Given the description of an element on the screen output the (x, y) to click on. 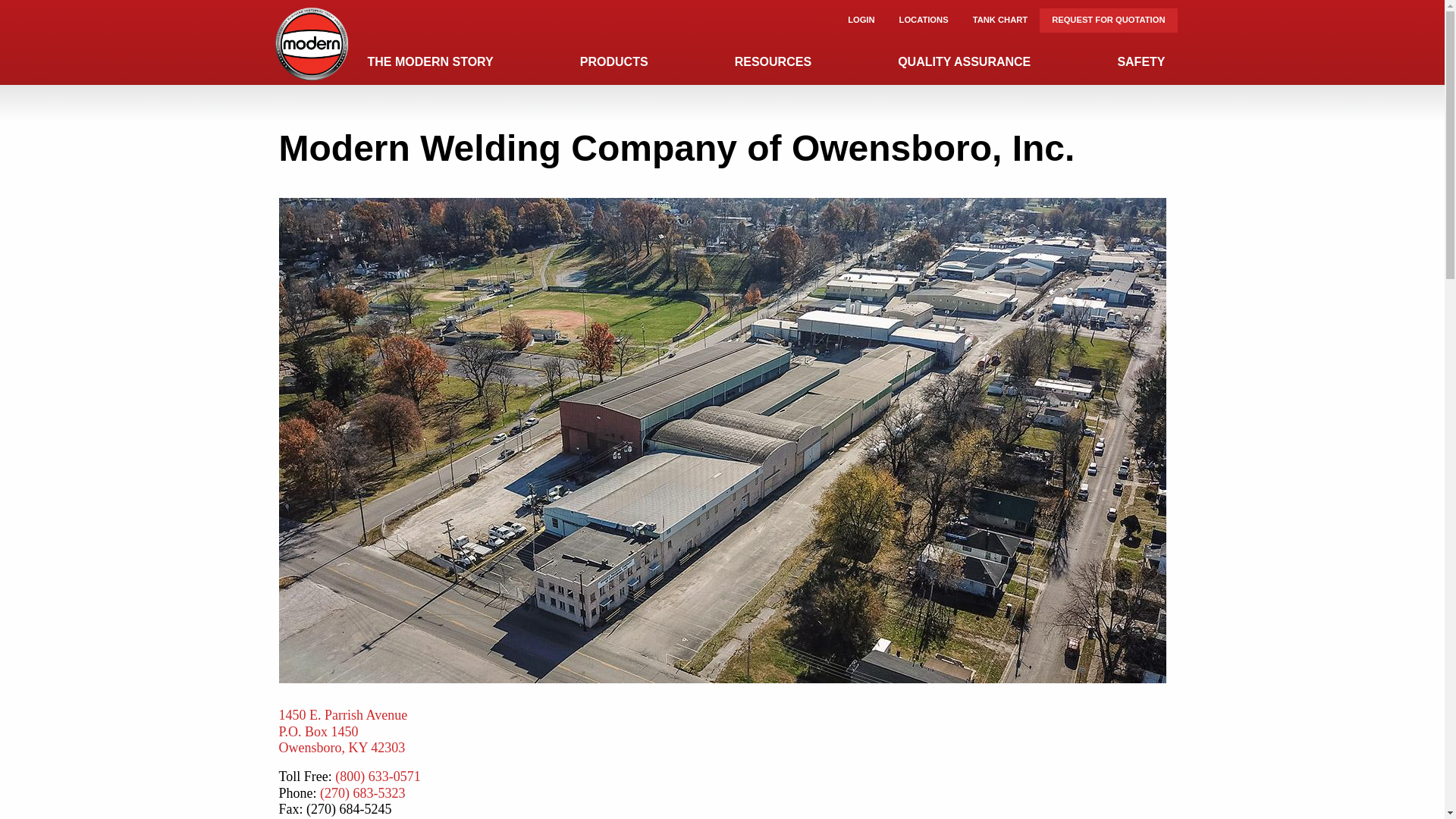
LOCATIONS (923, 20)
QUALITY ASSURANCE (963, 62)
REQUEST FOR QUOTATION (1107, 20)
TANK CHART (1000, 20)
Home (311, 42)
THE MODERN STORY (430, 62)
LOGIN (860, 20)
SAFETY (1140, 62)
PRODUCTS (343, 731)
RESOURCES (614, 62)
